Given the description of an element on the screen output the (x, y) to click on. 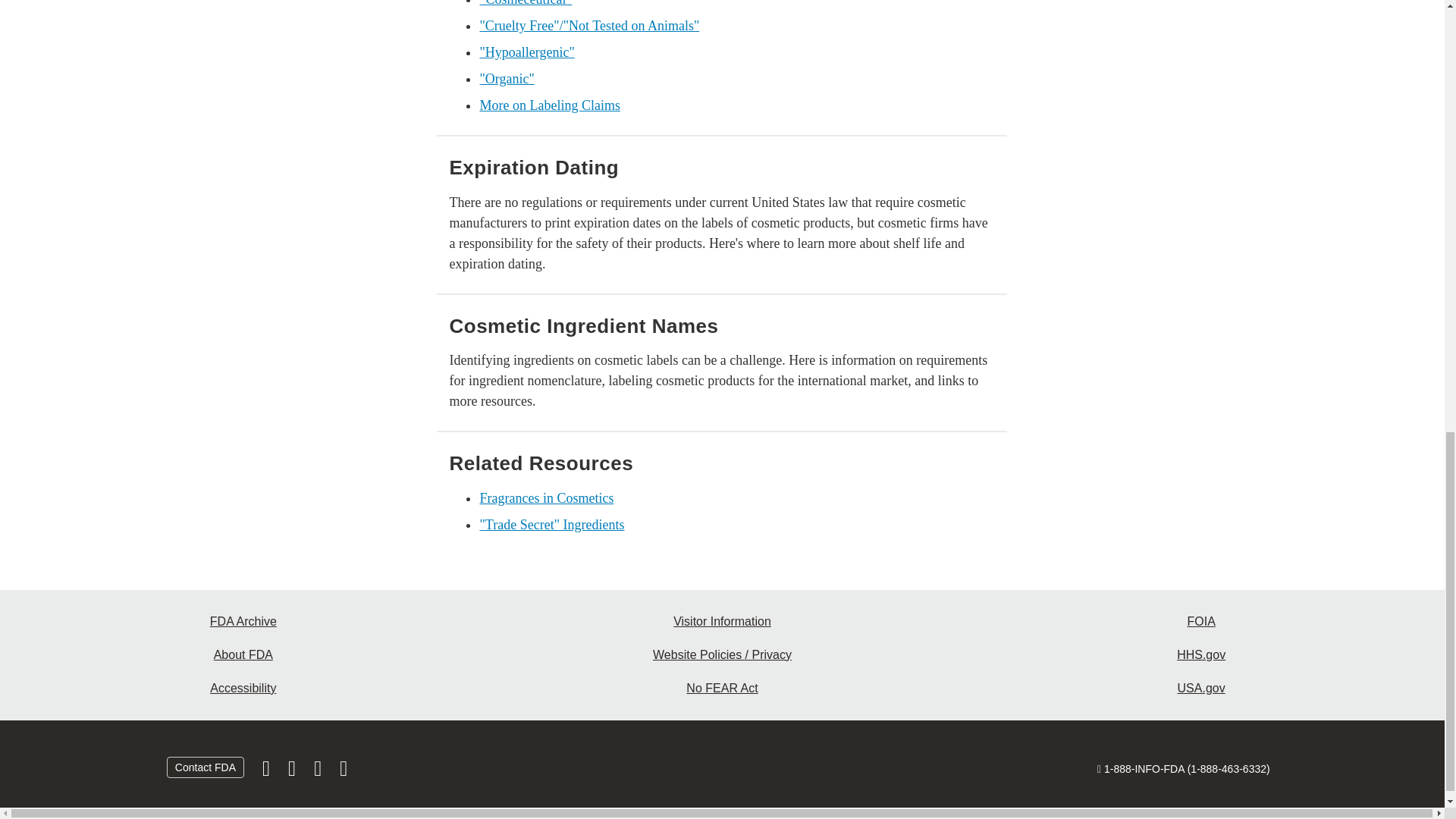
Health and Human Services (1200, 654)
View FDA videos on YouTube (318, 771)
Follow FDA on Twitter (293, 771)
Follow FDA on Facebook (267, 771)
Freedom of Information Act (1200, 621)
Subscribe to FDA RSS feeds (343, 771)
